Given the description of an element on the screen output the (x, y) to click on. 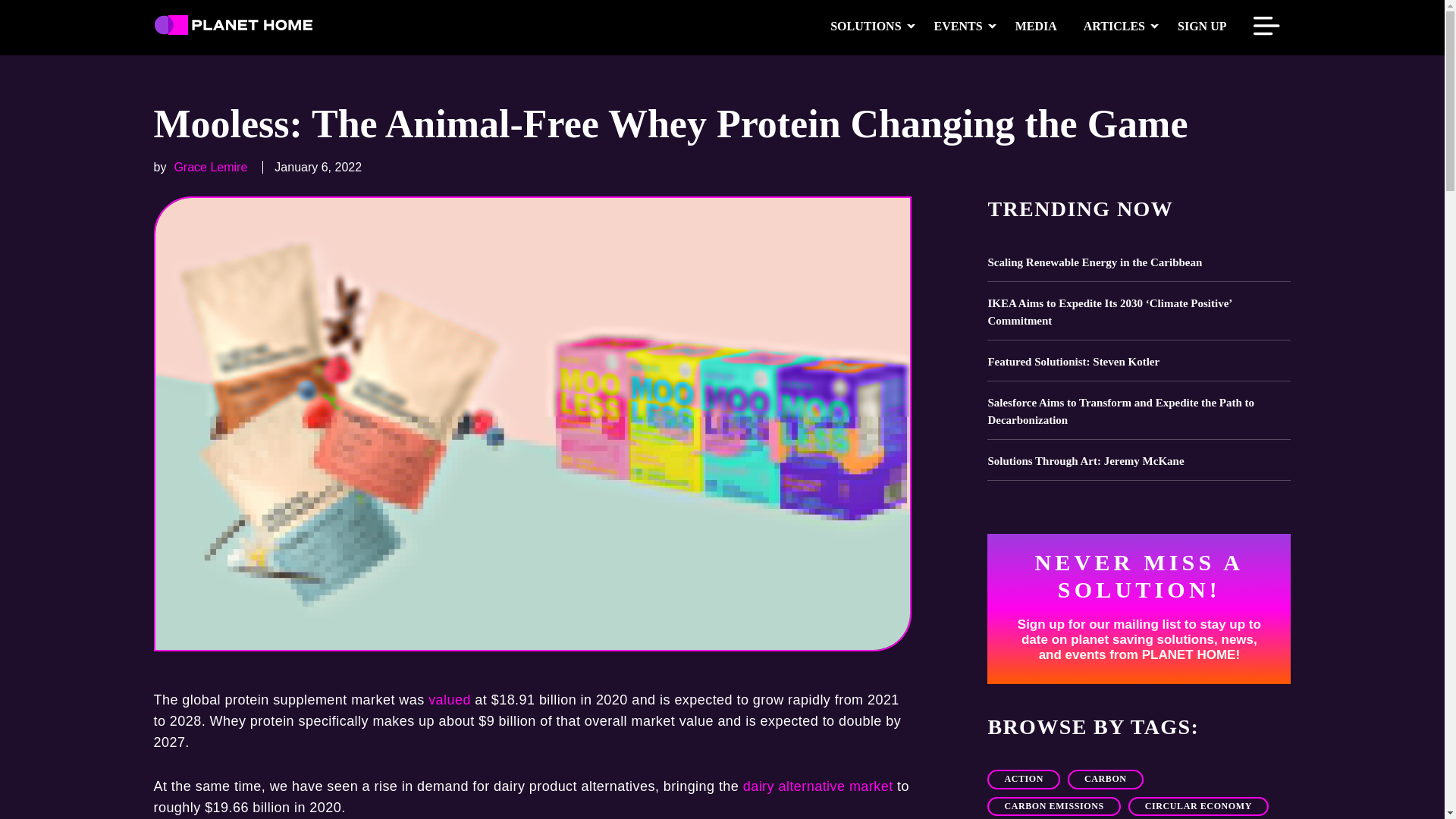
MEDIA (1036, 25)
EVENTS (958, 25)
SOLUTIONS (865, 25)
ARTICLES (1113, 25)
Menu bars (1266, 26)
SIGN UP (1201, 25)
